Given the description of an element on the screen output the (x, y) to click on. 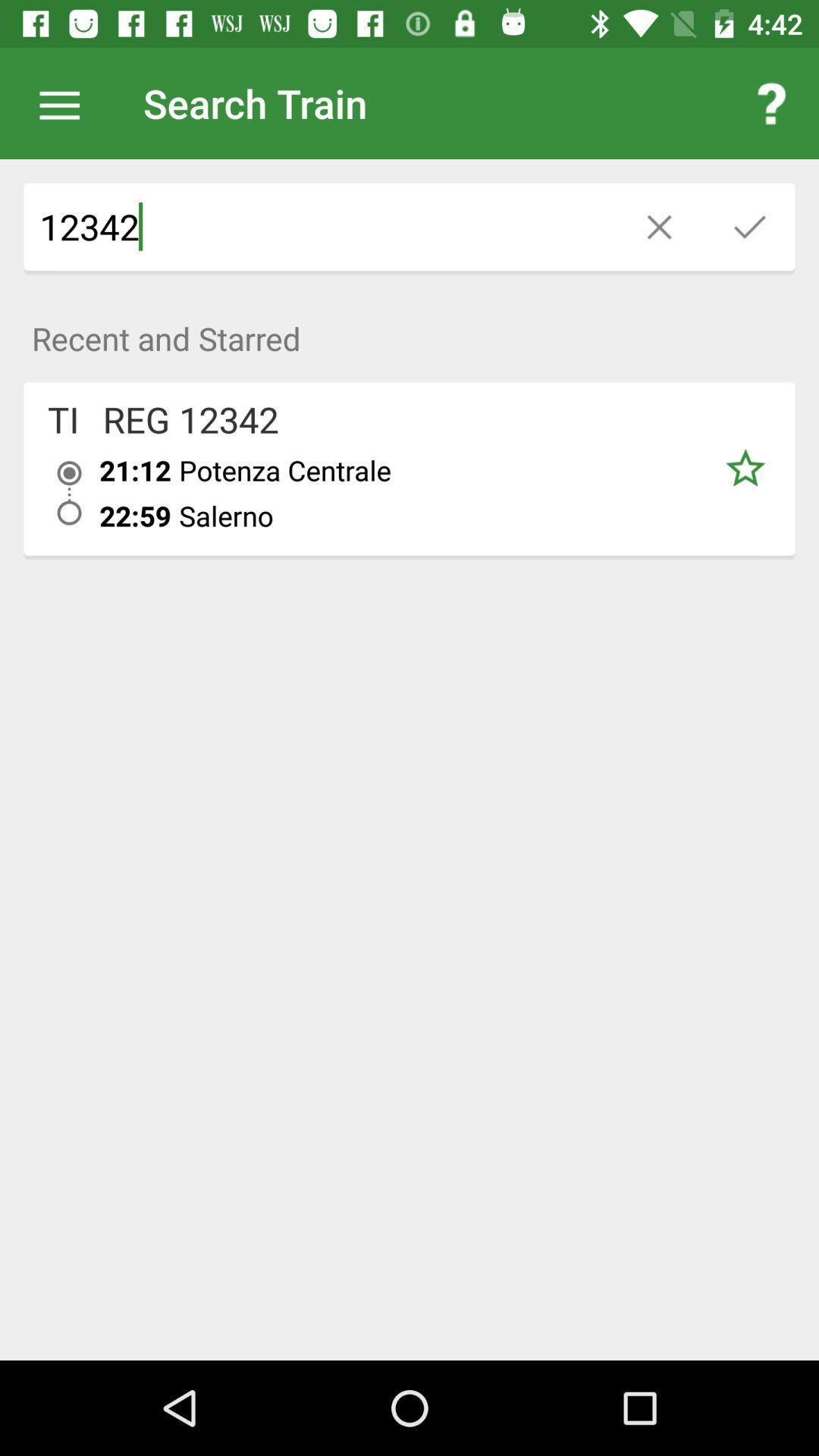
turn on the item to the left of the potenza centrale icon (135, 515)
